Given the description of an element on the screen output the (x, y) to click on. 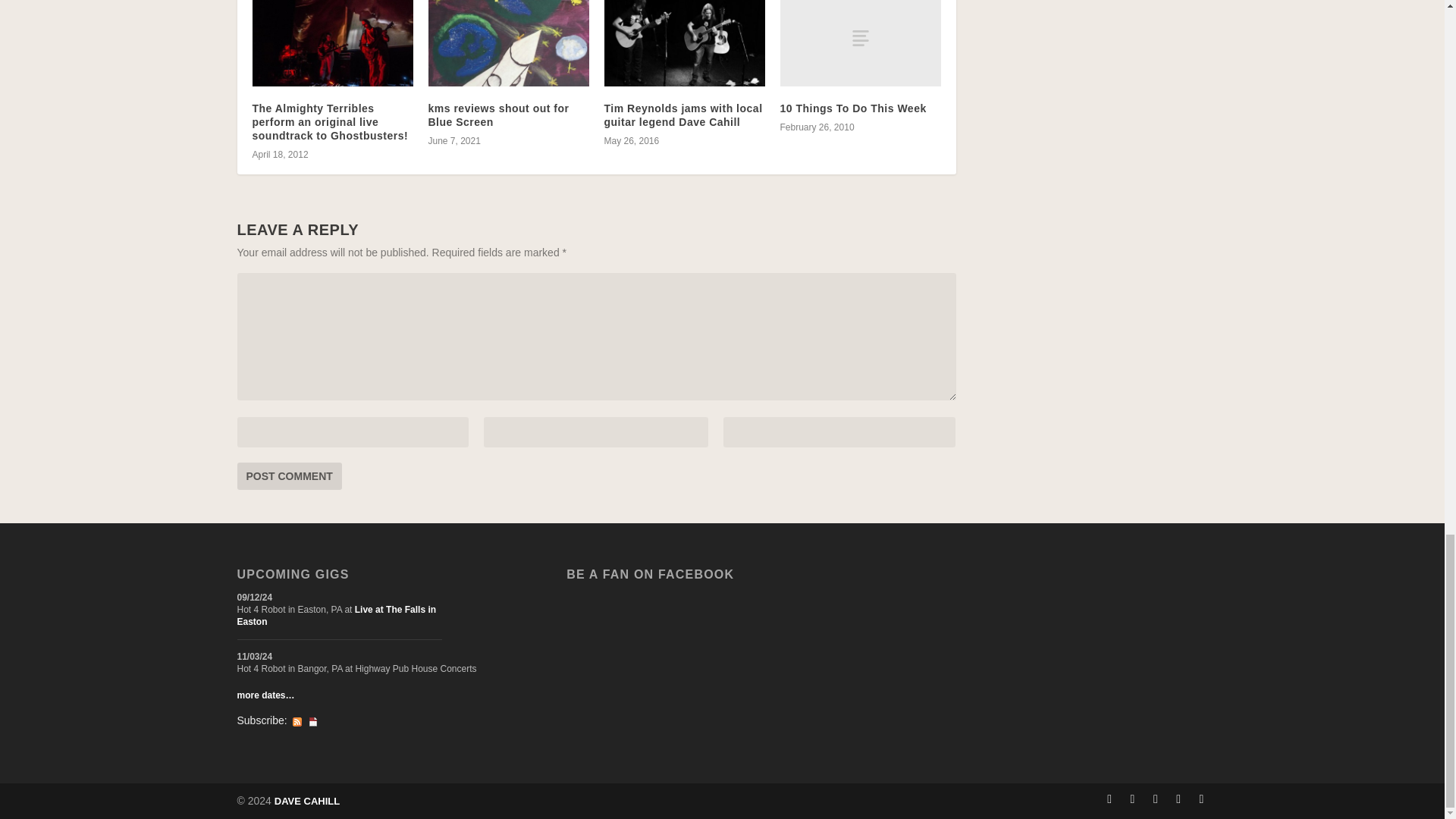
Post Comment (287, 475)
